Given the description of an element on the screen output the (x, y) to click on. 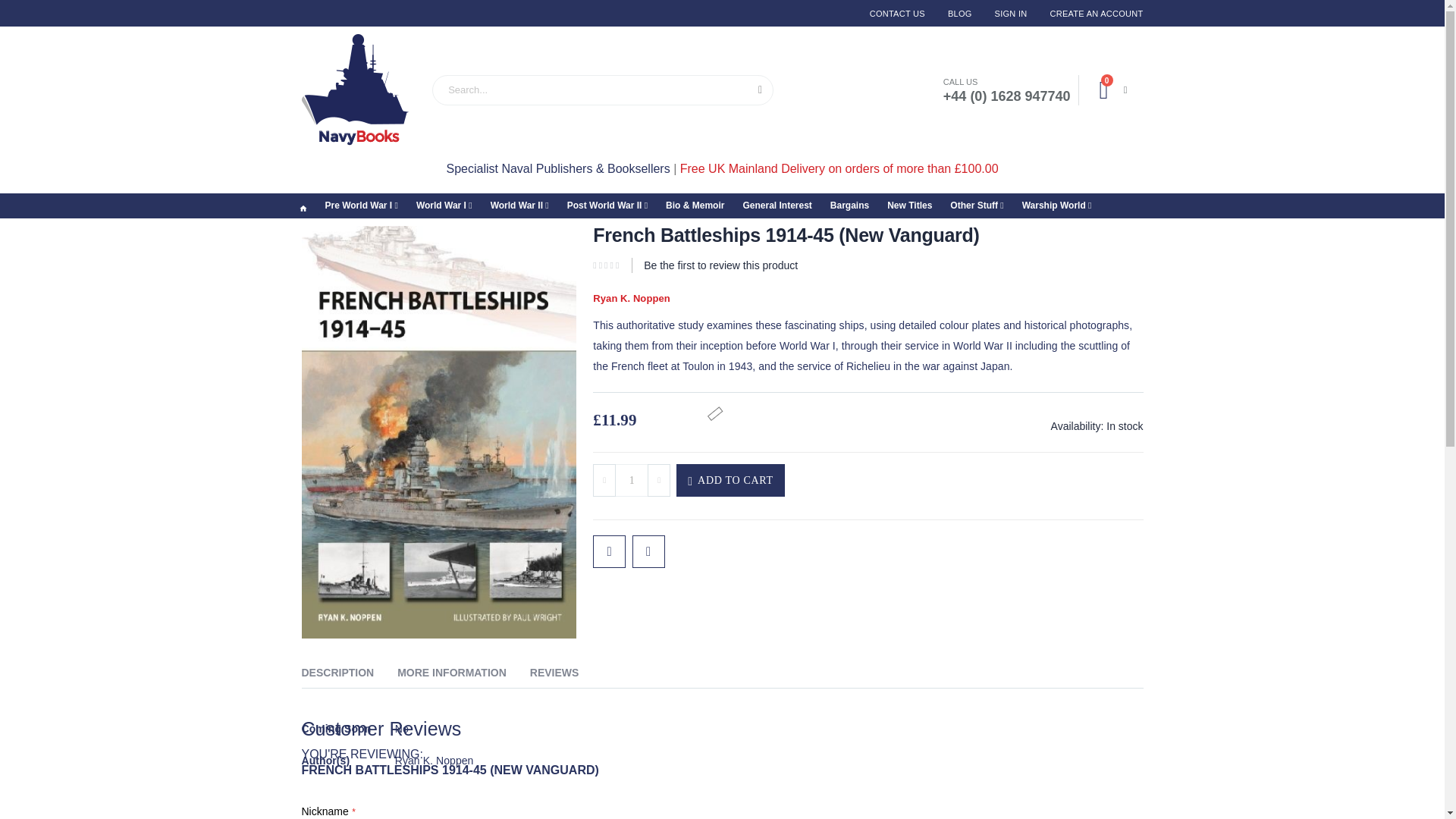
BLOG (1112, 90)
Navy Books (960, 13)
CREATE AN ACCOUNT (355, 89)
1 (1090, 13)
SIGN IN (630, 480)
CONTACT US (1011, 13)
